Given the description of an element on the screen output the (x, y) to click on. 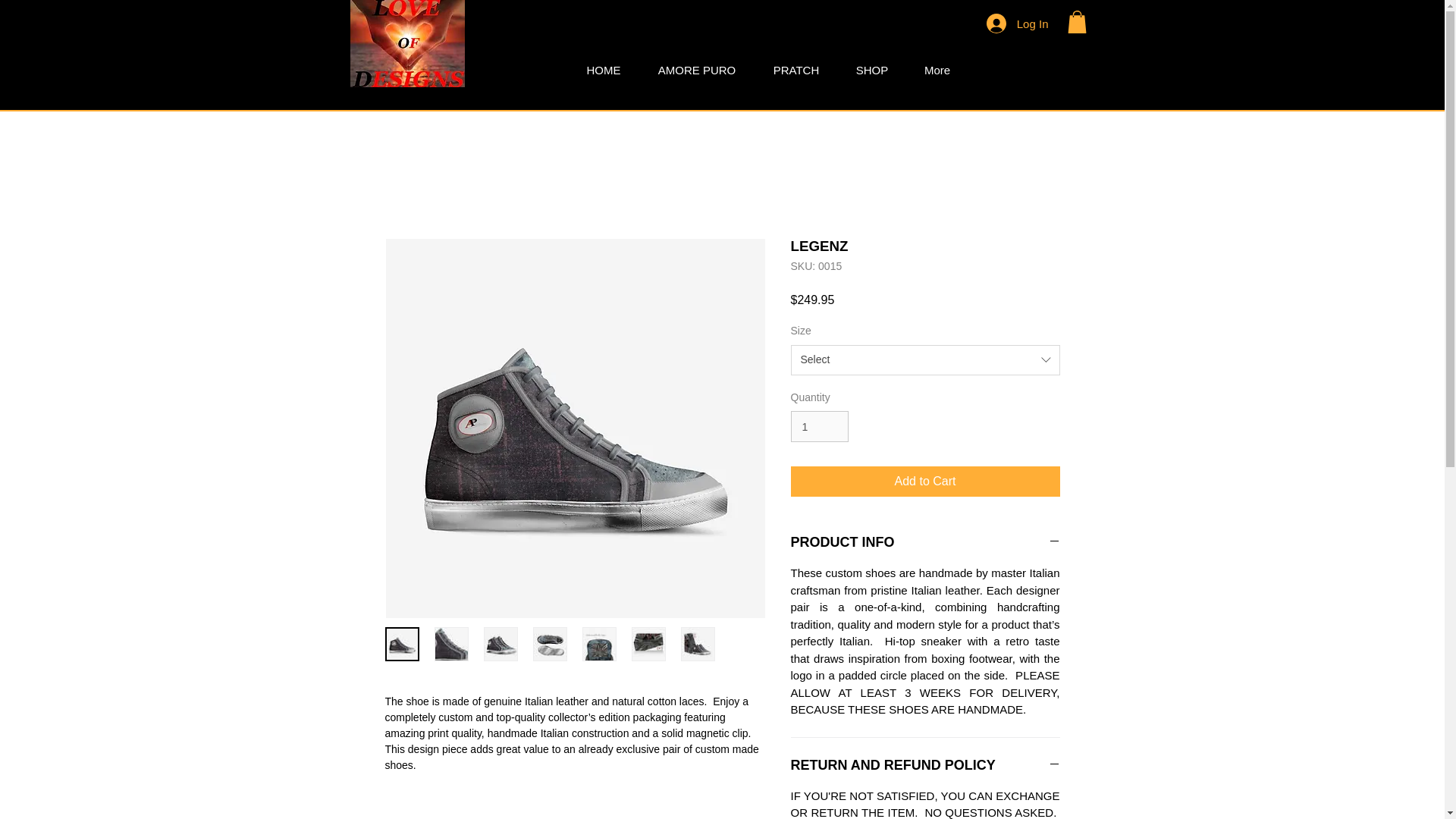
PRATCH (796, 70)
RETURN AND REFUND POLICY (924, 764)
1 (818, 426)
HOME (604, 70)
Log In (1017, 23)
PRODUCT INFO (924, 542)
Add to Cart (924, 481)
Select (924, 359)
AMORE PURO (696, 70)
